Given the description of an element on the screen output the (x, y) to click on. 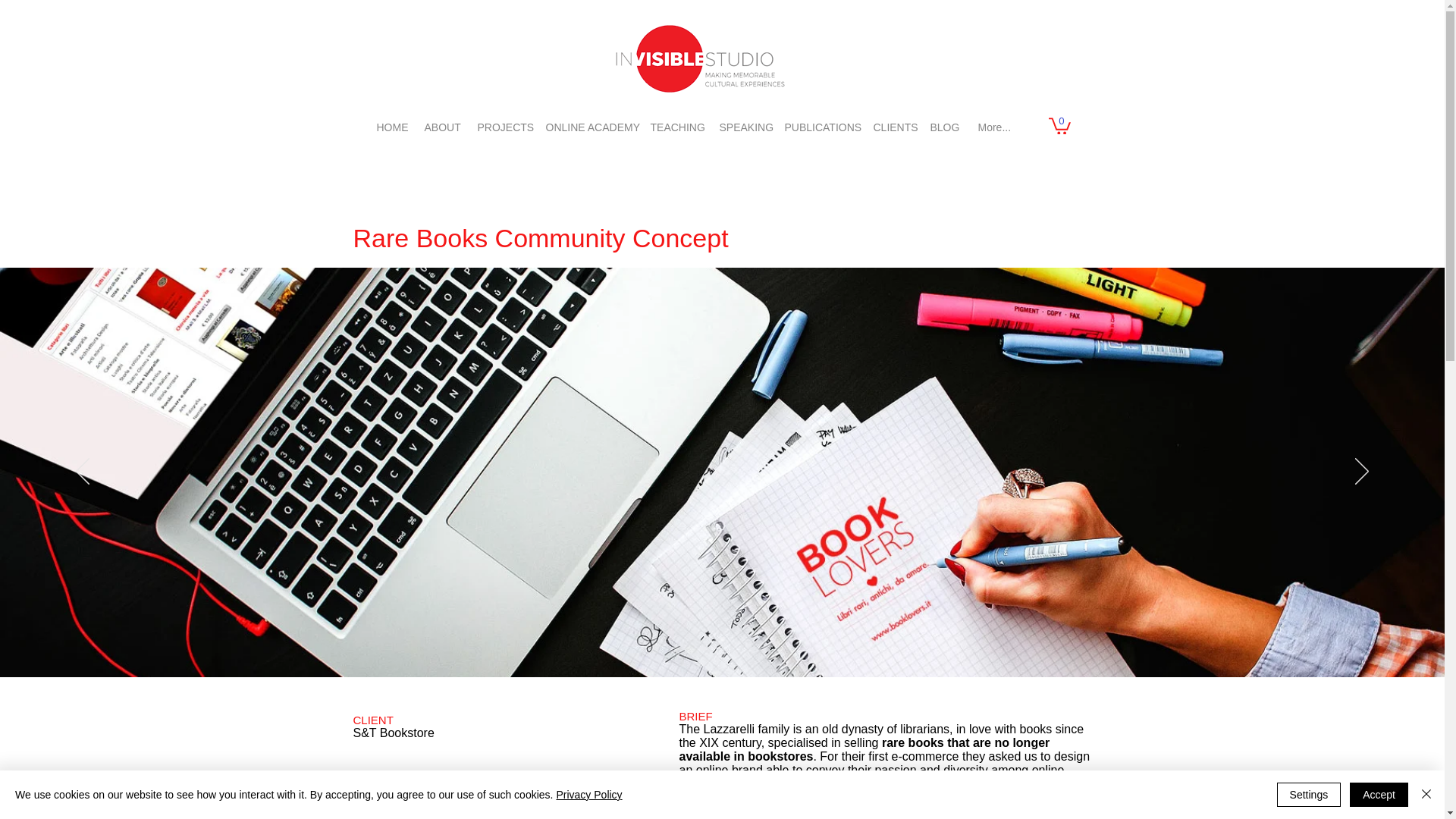
PUBLICATIONS (818, 120)
CLIENTS (892, 120)
0 (1059, 125)
Settings (1308, 794)
ONLINE ACADEMY (589, 120)
TEACHING (676, 120)
0 (1059, 125)
ABOUT (441, 120)
BLOG (944, 120)
SPEAKING (742, 120)
Accept (1378, 794)
HOME (390, 120)
PROJECTS (502, 120)
Privacy Policy (588, 794)
